Given the description of an element on the screen output the (x, y) to click on. 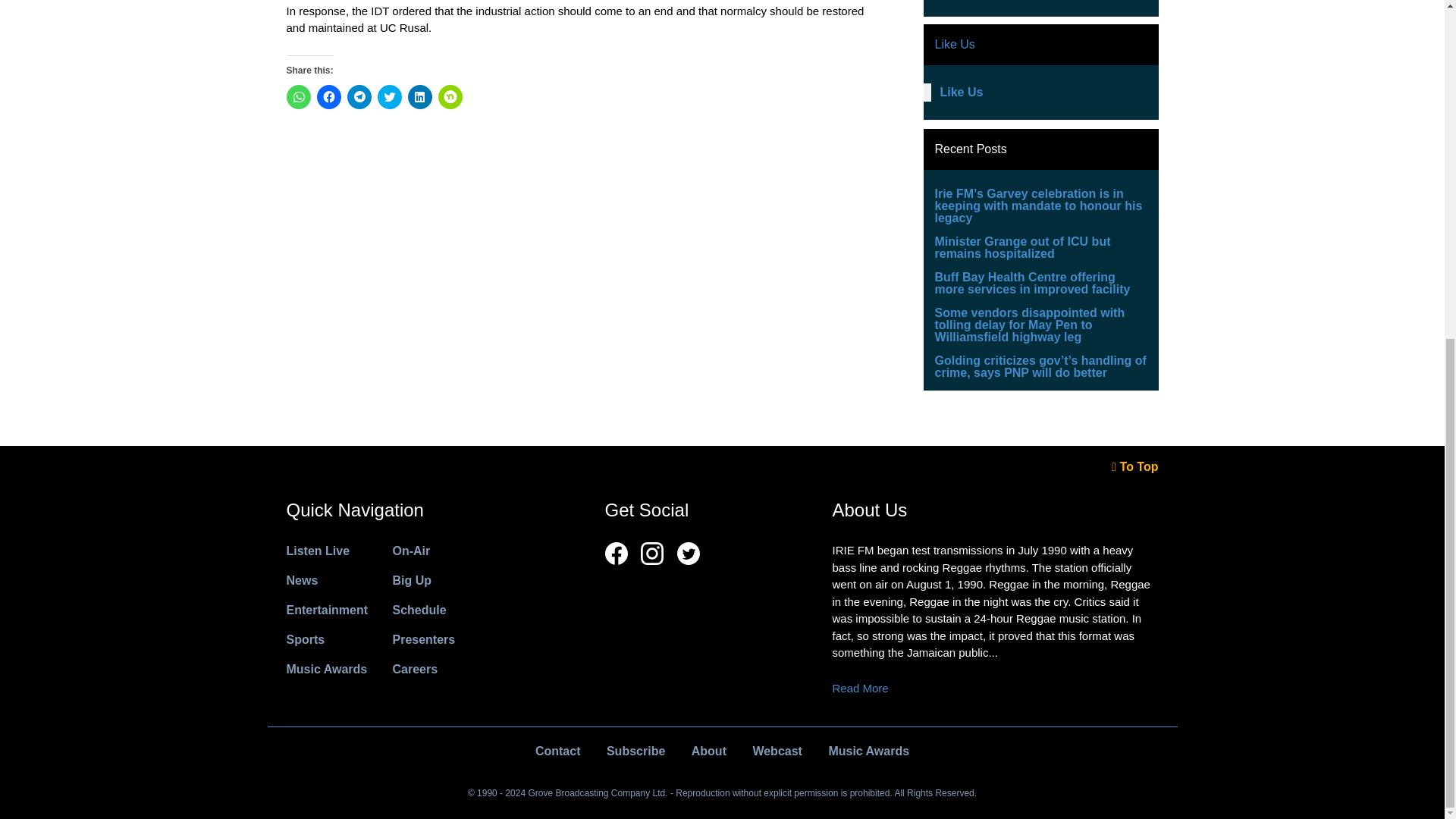
Like Us (962, 91)
Click to share on Twitter (389, 96)
Click to share on WhatsApp (298, 96)
Click to share on Facebook (328, 96)
Like Us (954, 43)
Minister Grange out of ICU but remains hospitalized (1021, 247)
Click to share on Telegram (359, 96)
Click to share on Nextdoor (450, 96)
YouTube video player (1040, 5)
